Given the description of an element on the screen output the (x, y) to click on. 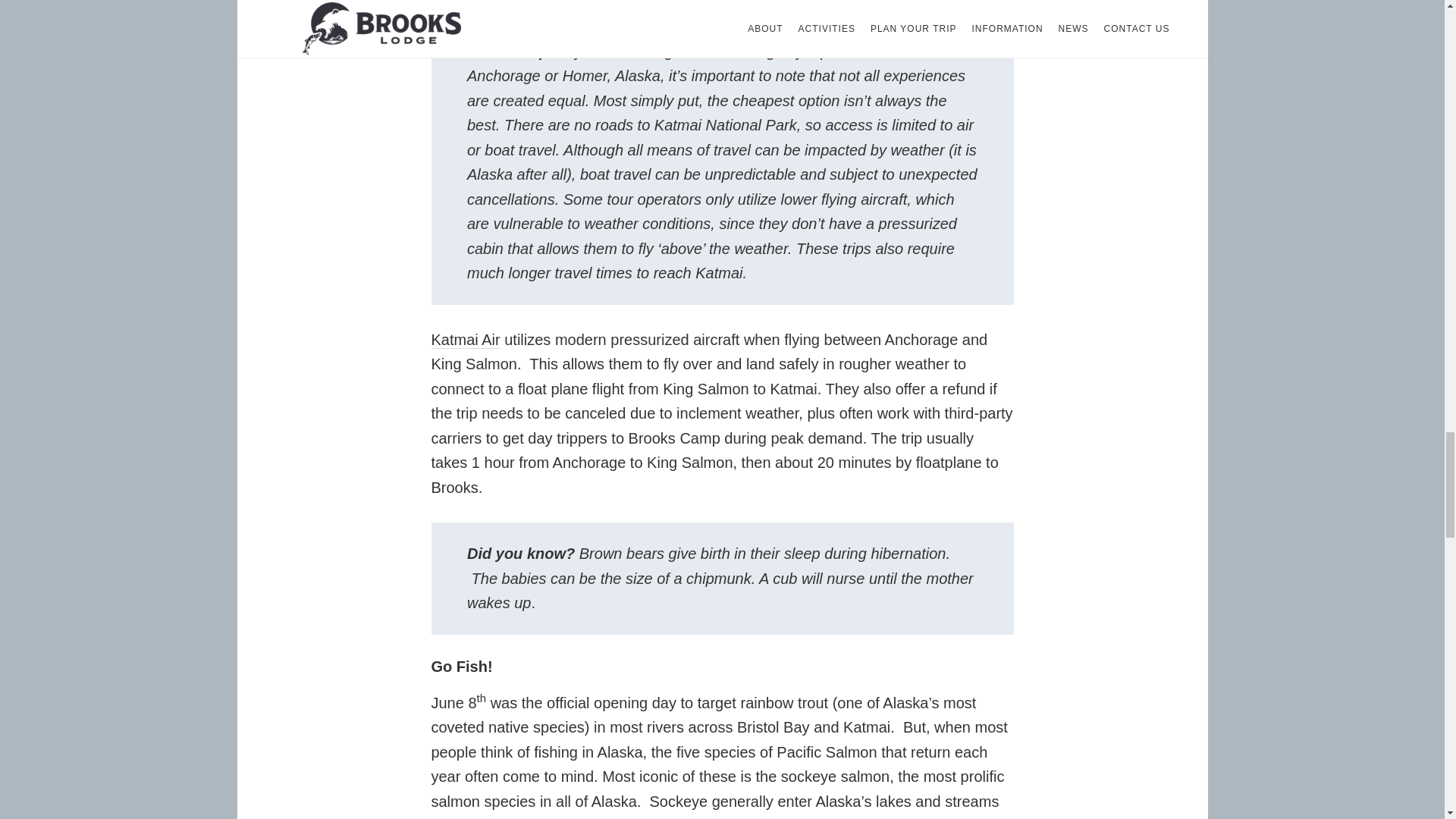
Katmai Air (464, 339)
